Given the description of an element on the screen output the (x, y) to click on. 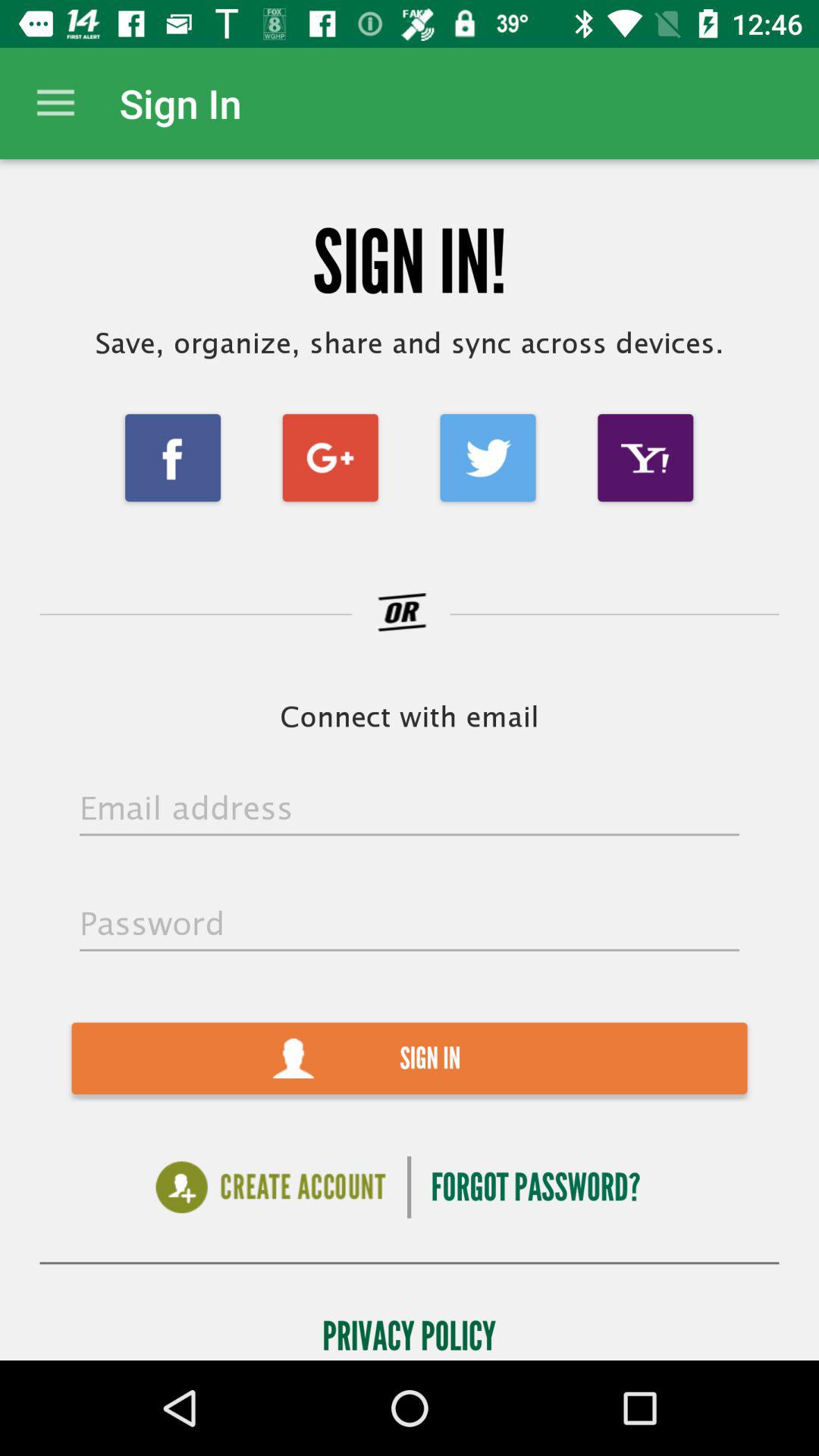
mail address (409, 809)
